Given the description of an element on the screen output the (x, y) to click on. 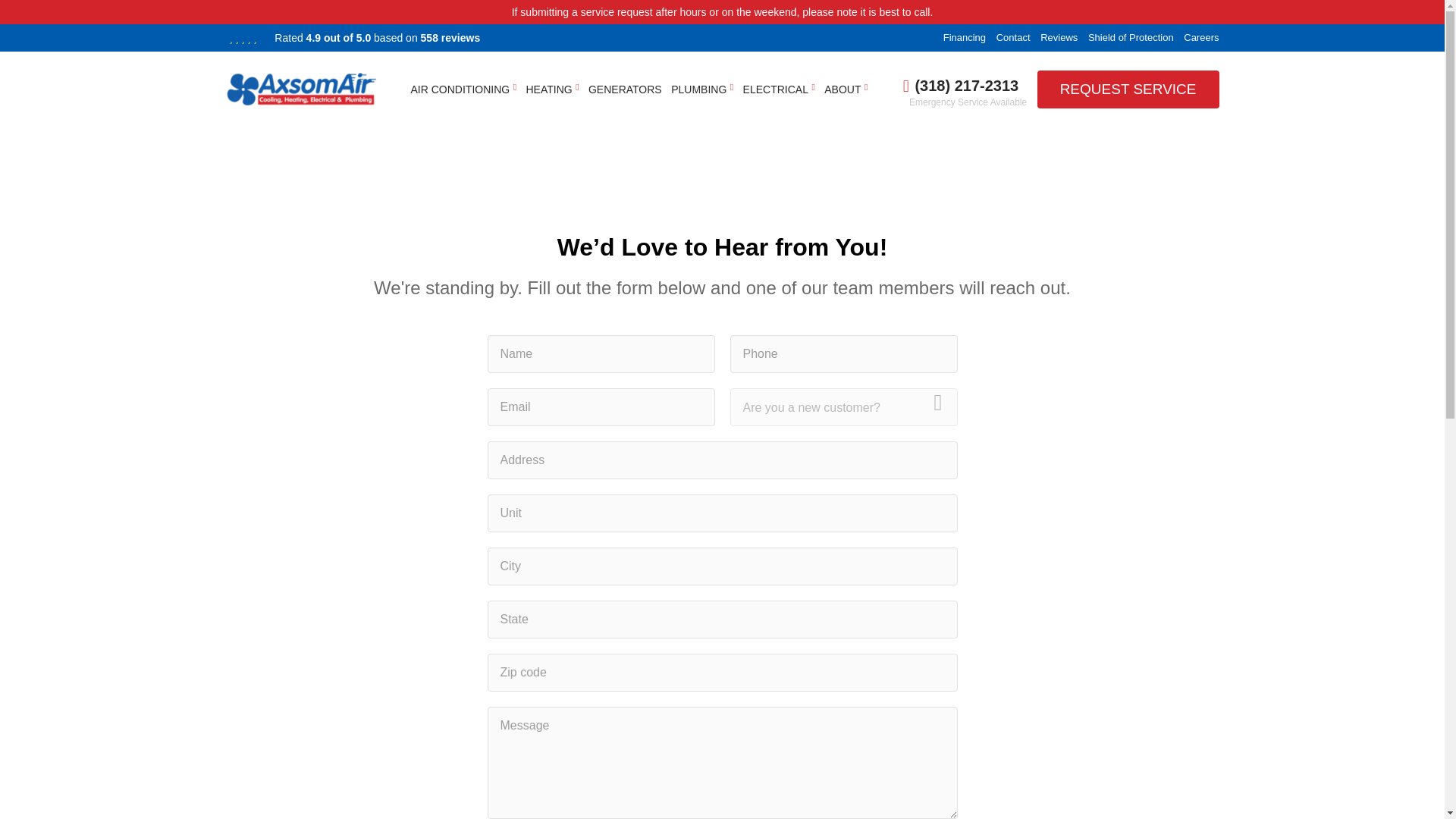
ELECTRICAL (775, 88)
Careers (1200, 37)
Financing (964, 37)
Shield of Protection (1130, 37)
Contact (1012, 37)
AIR CONDITIONING (460, 88)
HEATING (548, 88)
Reviews (1059, 37)
GENERATORS (625, 88)
PLUMBING (698, 88)
